Given the description of an element on the screen output the (x, y) to click on. 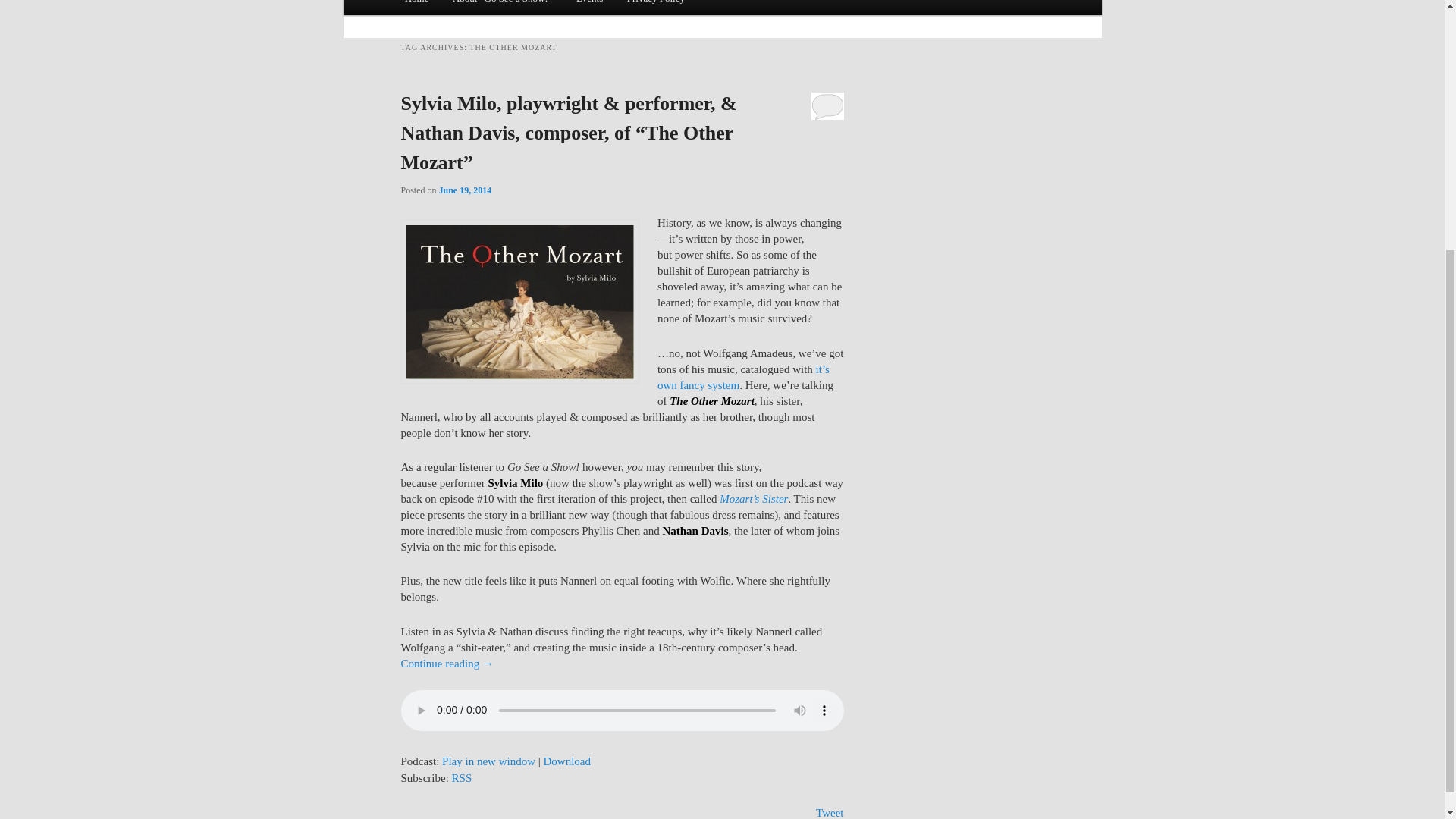
3:52 pm (465, 190)
RSS (461, 777)
Subscribe via RSS (461, 777)
Play in new window (488, 761)
Privacy Policy (655, 7)
Download (567, 761)
Play in new window (488, 761)
Events (589, 7)
Download (567, 761)
June 19, 2014 (465, 190)
Home (417, 7)
